Given the description of an element on the screen output the (x, y) to click on. 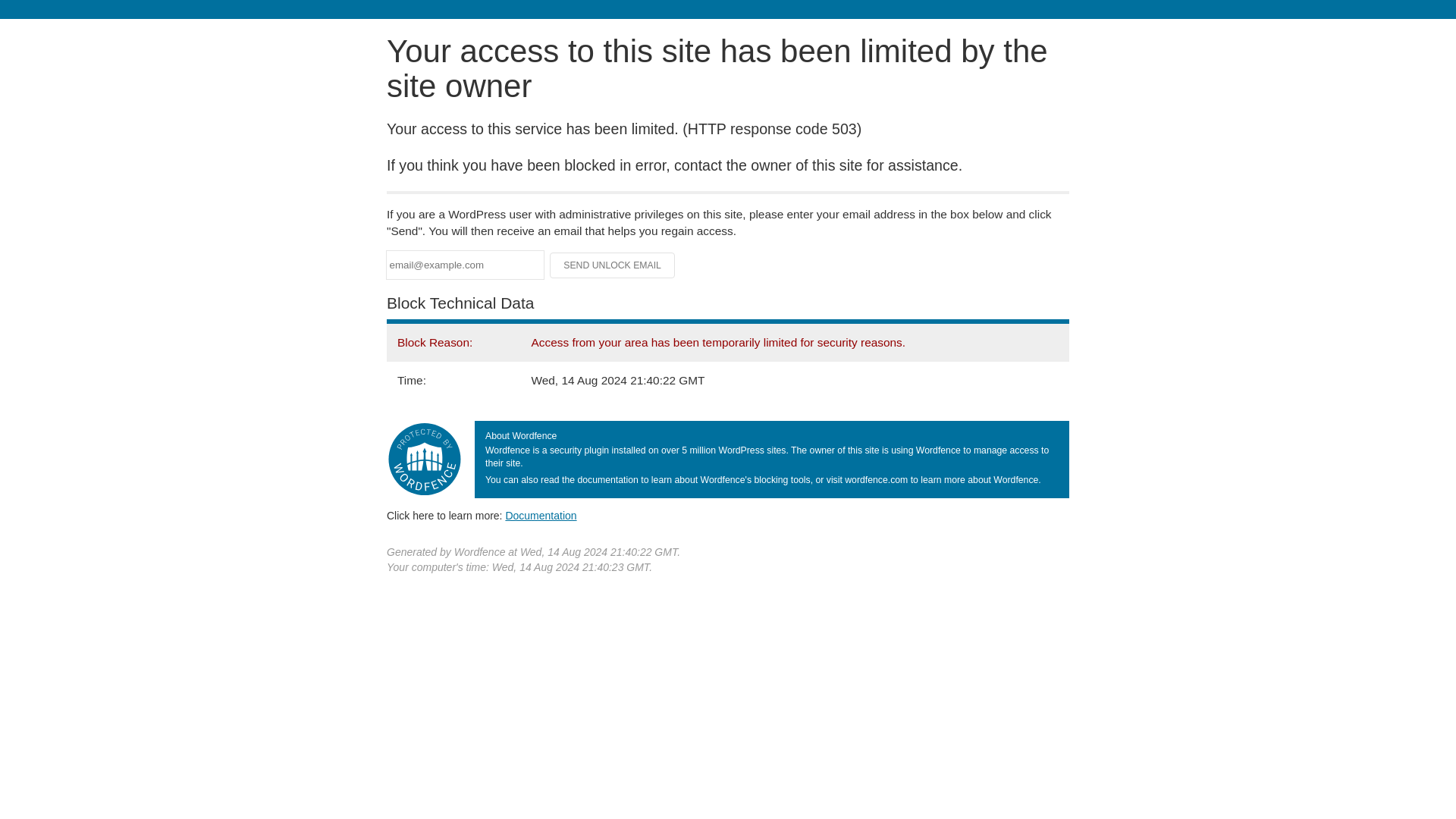
Documentation (540, 515)
Send Unlock Email (612, 265)
Send Unlock Email (612, 265)
